Given the description of an element on the screen output the (x, y) to click on. 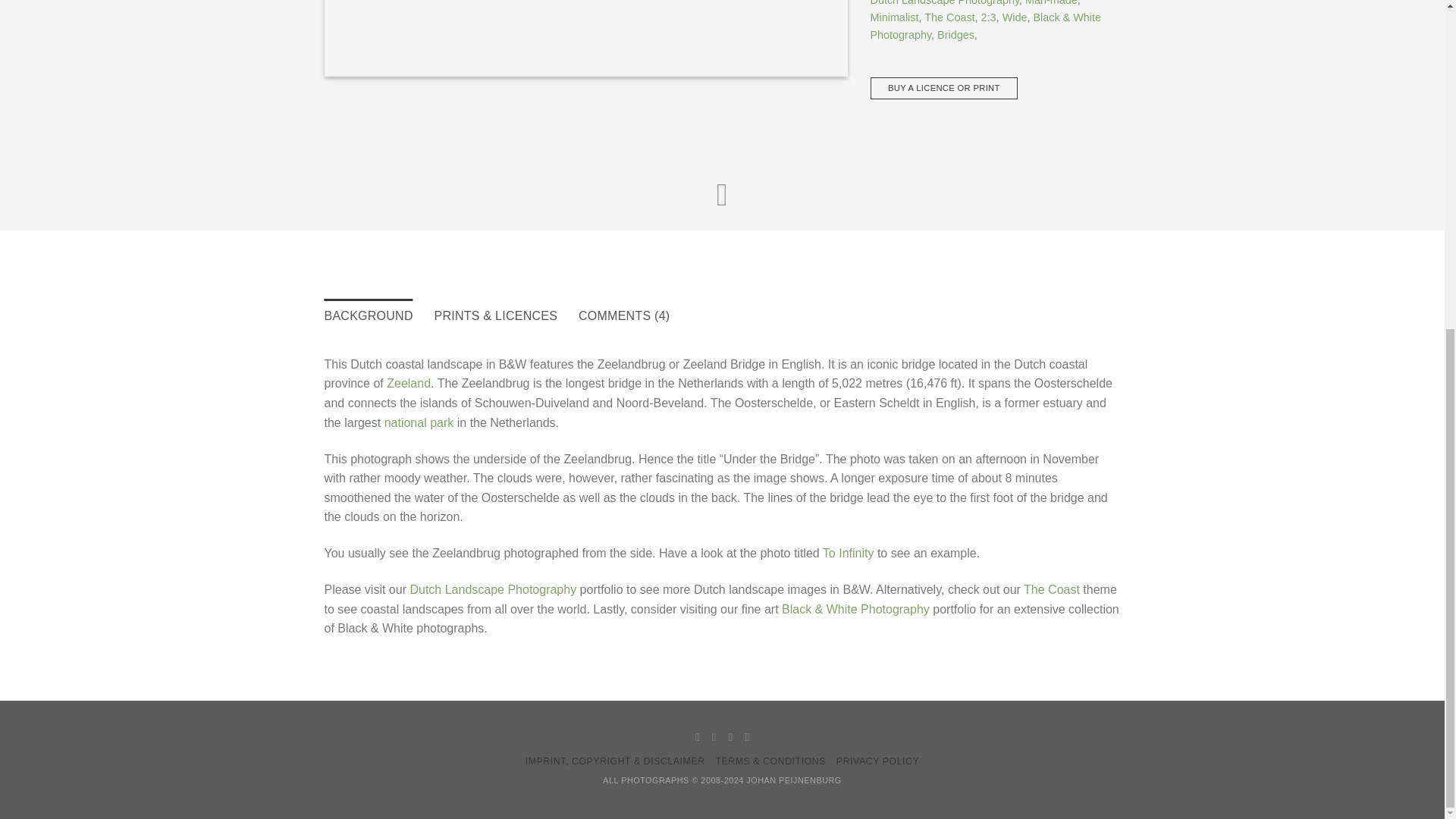
Man-made (1051, 2)
Dutch Landscape Photography (945, 2)
Minimalist (894, 17)
The Coast (949, 17)
